Given the description of an element on the screen output the (x, y) to click on. 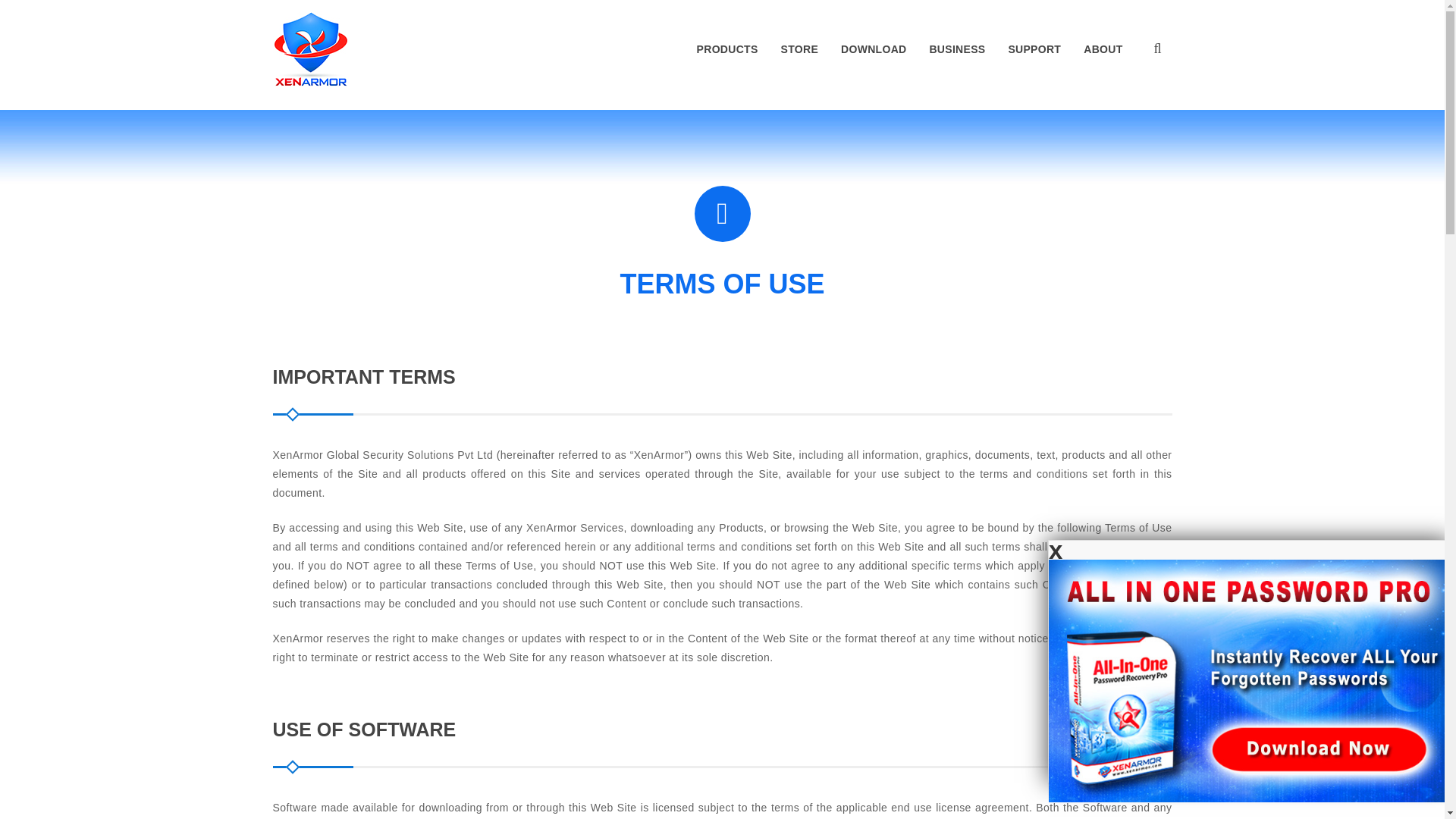
PRODUCTS (727, 48)
BUSINESS (956, 48)
DOWNLOAD (873, 48)
SUPPORT (1033, 48)
